Given the description of an element on the screen output the (x, y) to click on. 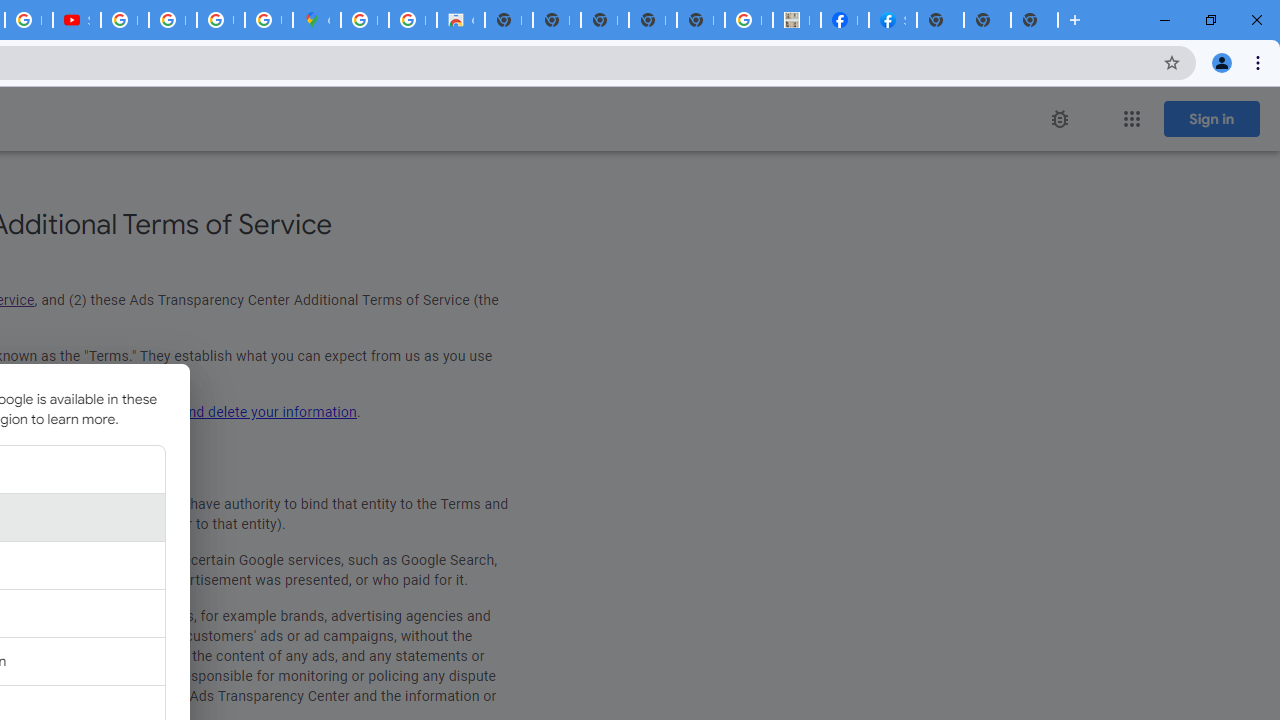
Chrome Web Store - Shopping (460, 20)
Send Bug Report (1059, 119)
update, manage, export, and delete your information (190, 412)
